Given the description of an element on the screen output the (x, y) to click on. 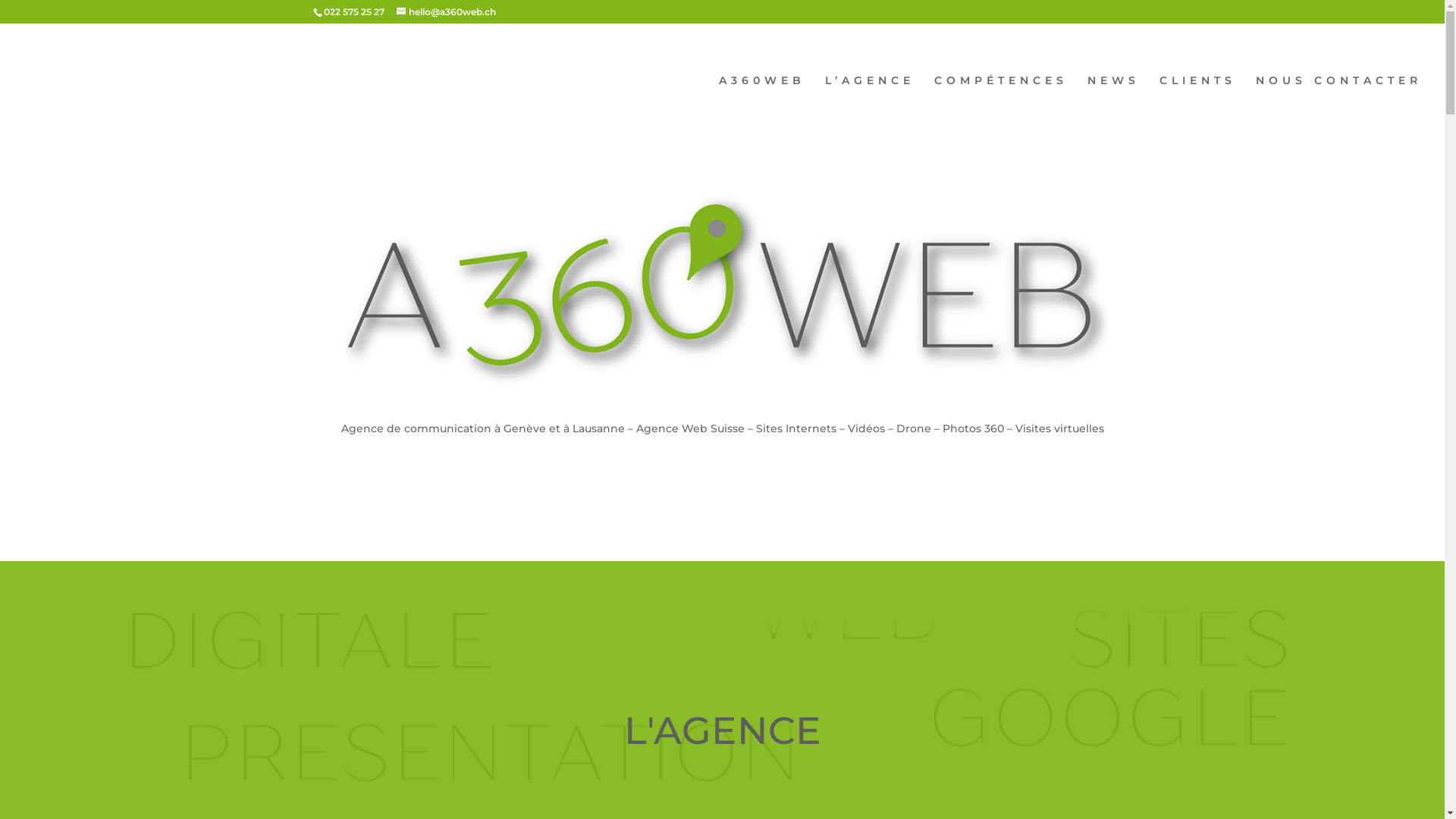
A360WEB Element type: text (761, 106)
NOUS CONTACTER Element type: text (1338, 106)
NEWS Element type: text (1113, 106)
CLIENTS Element type: text (1197, 106)
hello@a360web.ch Element type: text (445, 11)
